Given the description of an element on the screen output the (x, y) to click on. 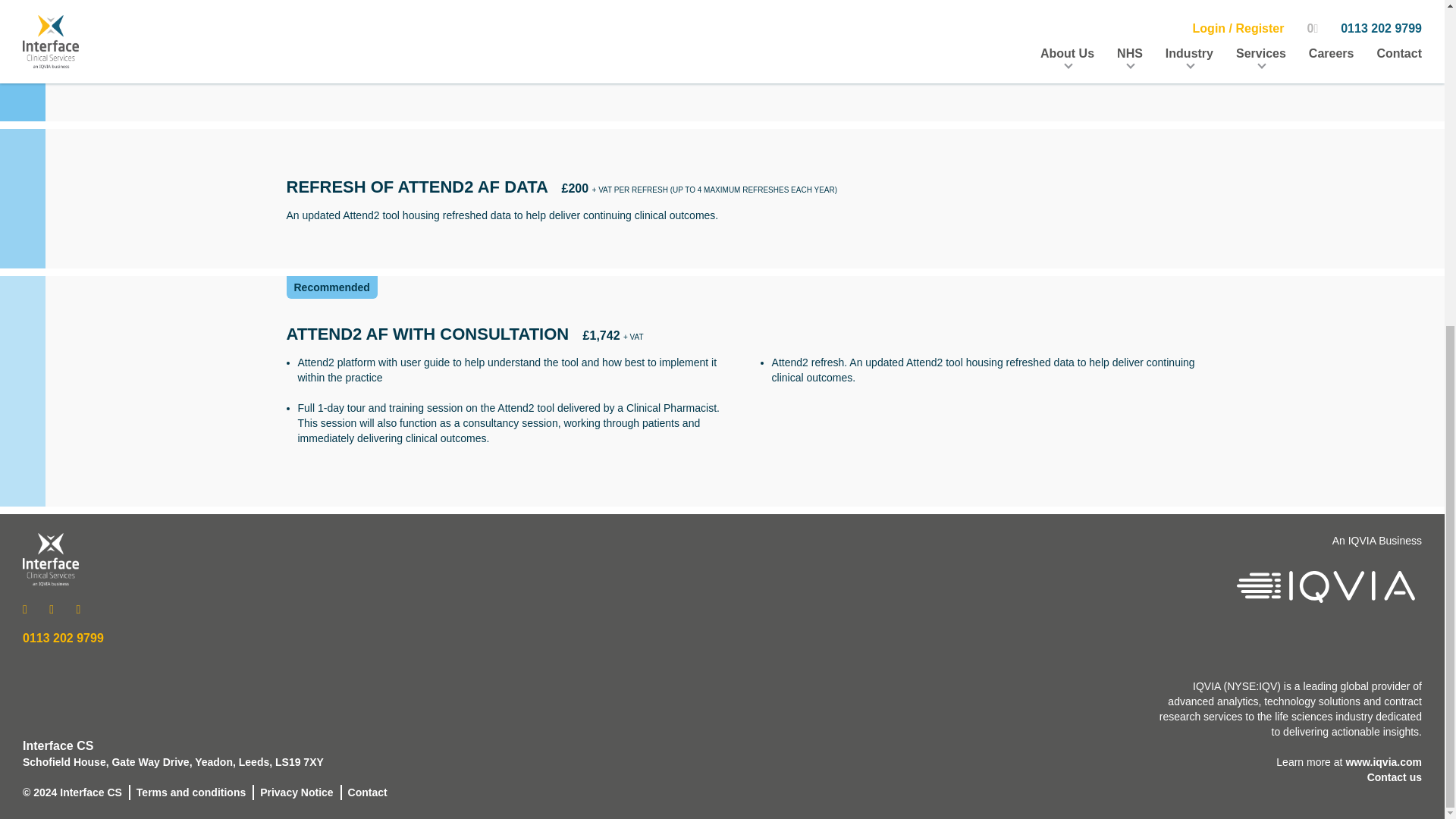
Terms and conditions (191, 792)
Privacy Notice (296, 792)
Find out more (1353, 128)
Add to basket (1100, 297)
Contact us (1394, 776)
www.iqvia.com (1383, 761)
Contact (367, 792)
0113 202 9799 (63, 637)
